Given the description of an element on the screen output the (x, y) to click on. 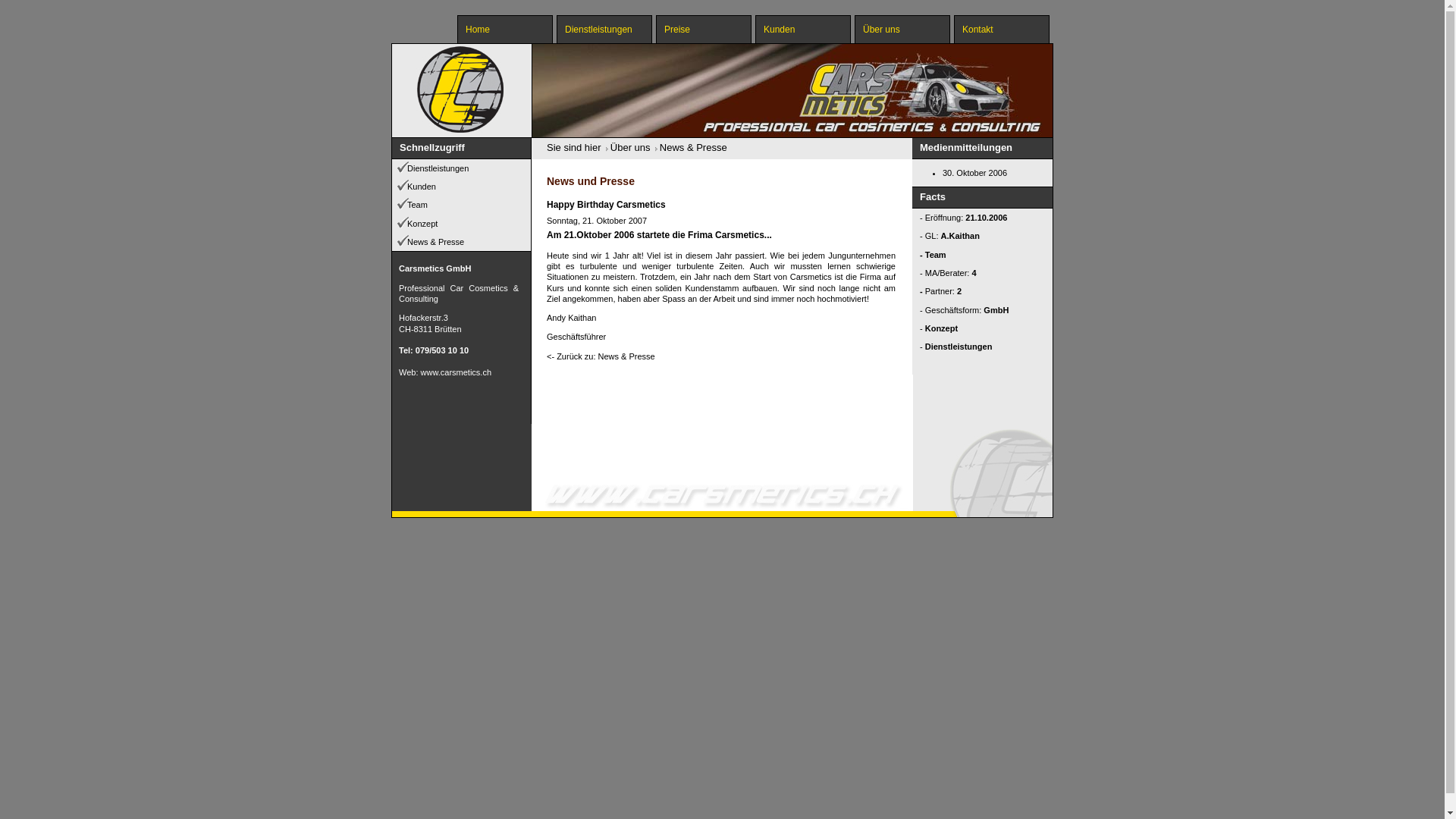
Dienstleistungen Element type: text (461, 168)
Dienstleistungen Element type: text (958, 346)
Team Element type: text (935, 254)
Dienstleistungen Element type: text (604, 29)
www.carsmetics.ch Element type: text (456, 371)
News & Presse Element type: text (693, 147)
Konzept Element type: text (941, 327)
Team Element type: text (461, 204)
News & Presse Element type: text (461, 241)
Kunden Element type: text (802, 29)
- Element type: text (722, 427)
Happy Birthday Carsmetics Element type: text (605, 204)
Preise Element type: text (703, 29)
Kontakt Element type: text (1001, 29)
Konzept Element type: text (461, 223)
Kunden Element type: text (461, 186)
30. Oktober 2006 Element type: text (974, 172)
A.Kaithan Element type: text (960, 235)
Home Element type: text (504, 29)
